Given the description of an element on the screen output the (x, y) to click on. 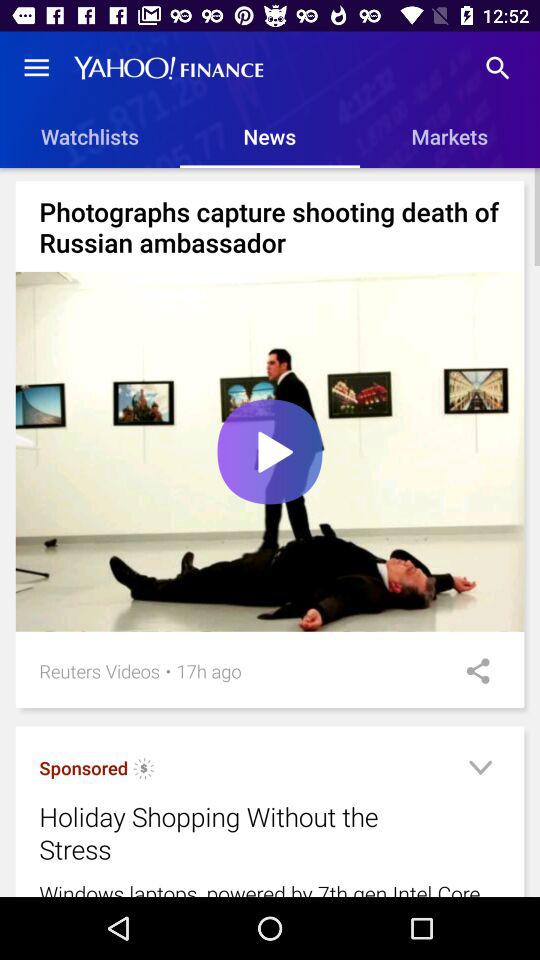
opens drop menu (480, 770)
